Given the description of an element on the screen output the (x, y) to click on. 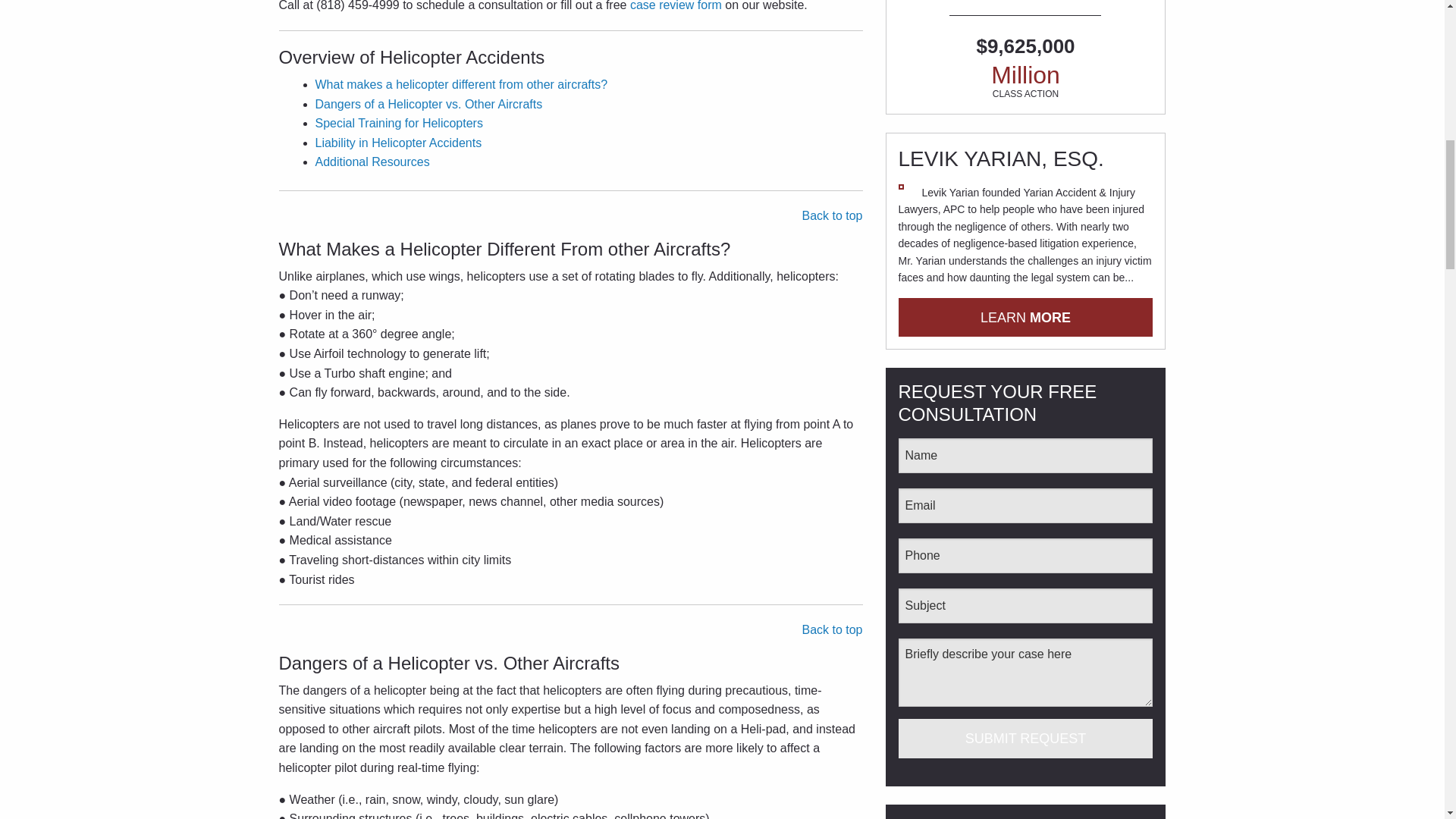
SUBMIT REQUEST (1025, 738)
